Given the description of an element on the screen output the (x, y) to click on. 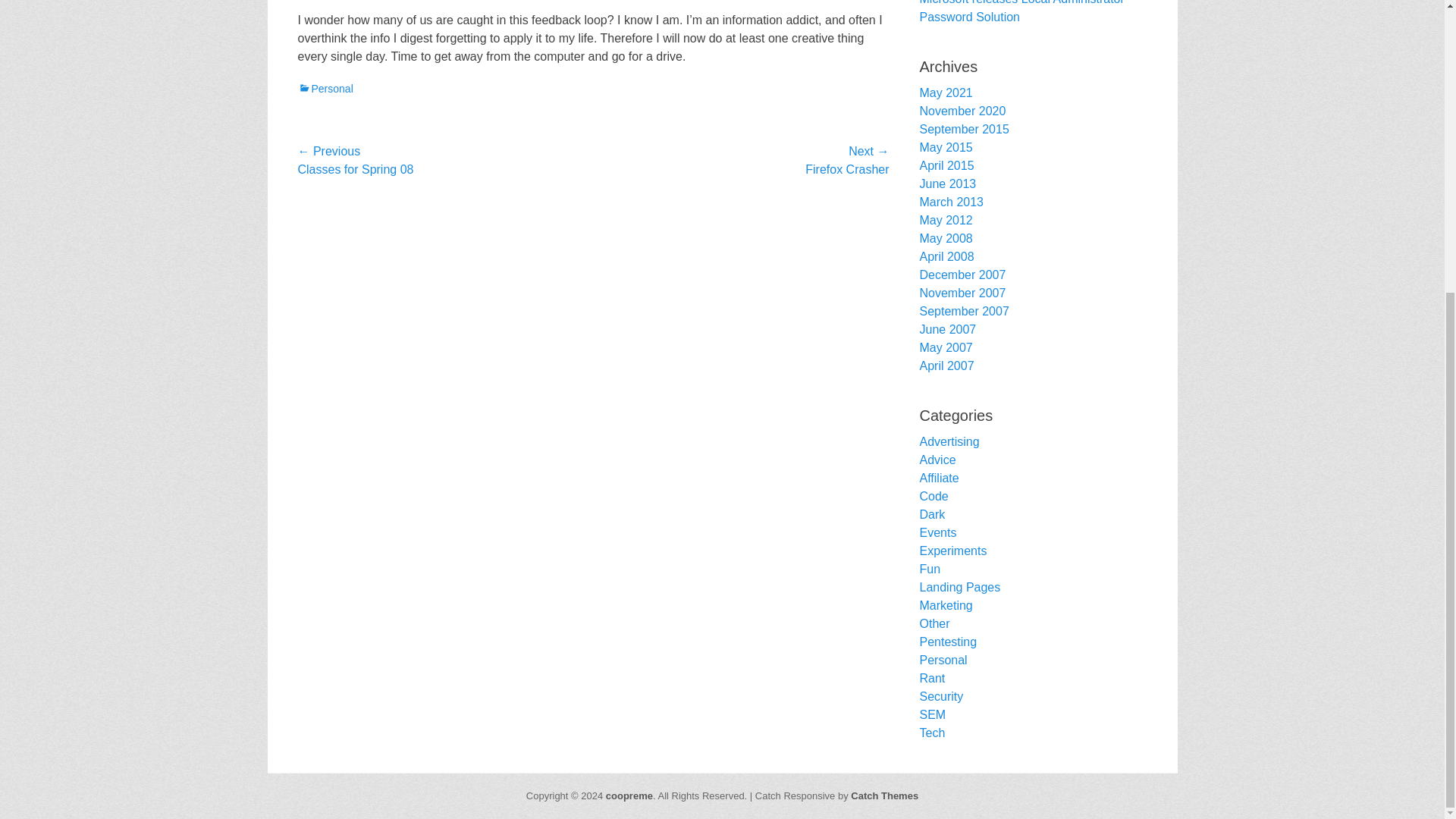
May 2012 (945, 219)
May 2015 (945, 146)
March 2013 (951, 201)
November 2007 (962, 292)
Personal (324, 88)
December 2007 (962, 274)
May 2008 (945, 237)
April 2015 (946, 164)
November 2020 (962, 110)
June 2013 (946, 183)
June 2007 (946, 328)
May 2021 (945, 92)
April 2008 (946, 256)
Microsoft releases Local Administrator Password Solution (1021, 11)
September 2015 (963, 128)
